Given the description of an element on the screen output the (x, y) to click on. 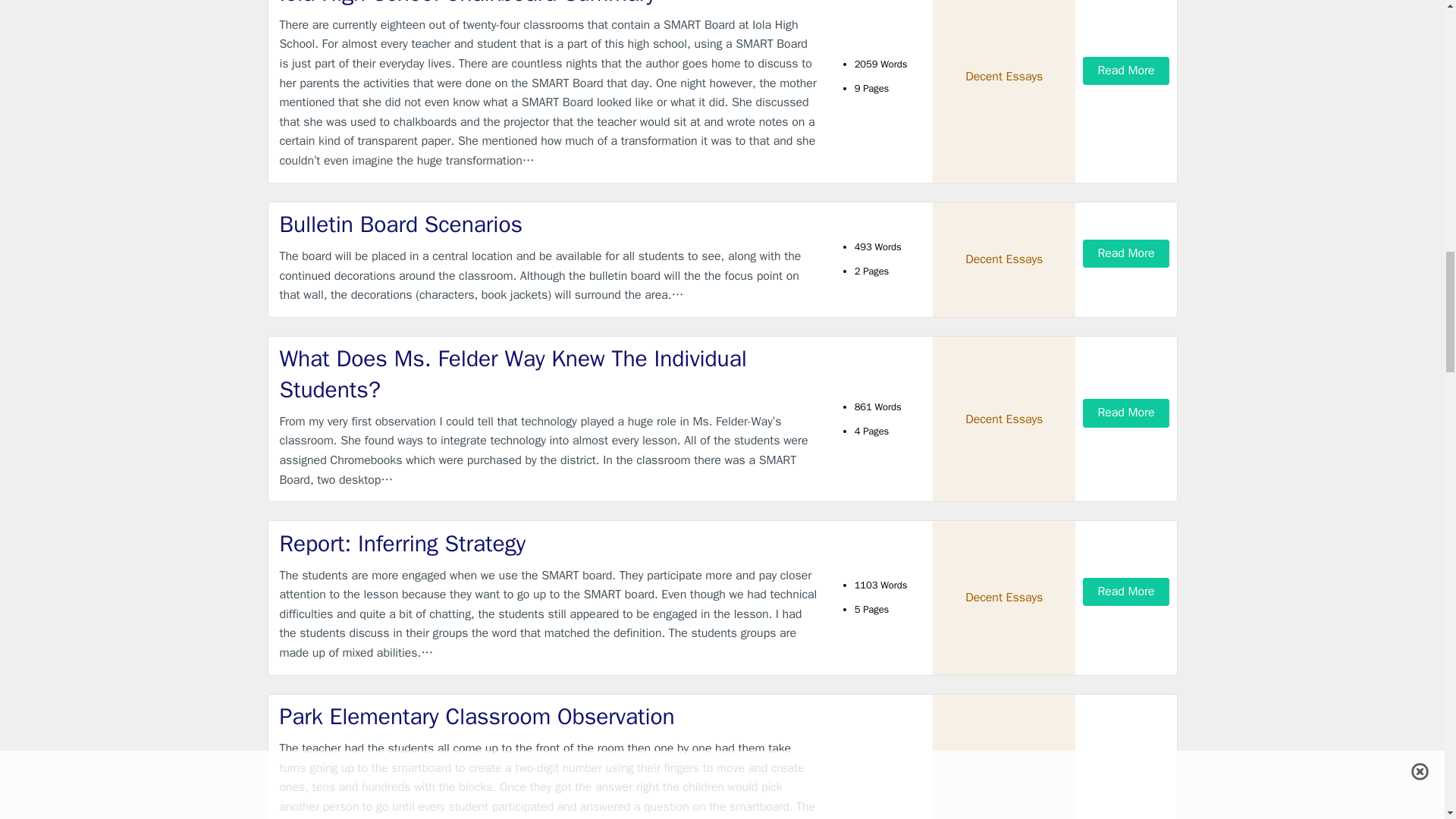
Park Elementary Classroom Observation (548, 716)
Iola High School Chalkboard Summary (548, 4)
What Does Ms. Felder Way Knew The Individual Students? (548, 373)
Report: Inferring Strategy (548, 543)
Read More (1126, 253)
Read More (1126, 592)
Read More (1126, 70)
Read More (1126, 412)
Bulletin Board Scenarios (548, 224)
